Given the description of an element on the screen output the (x, y) to click on. 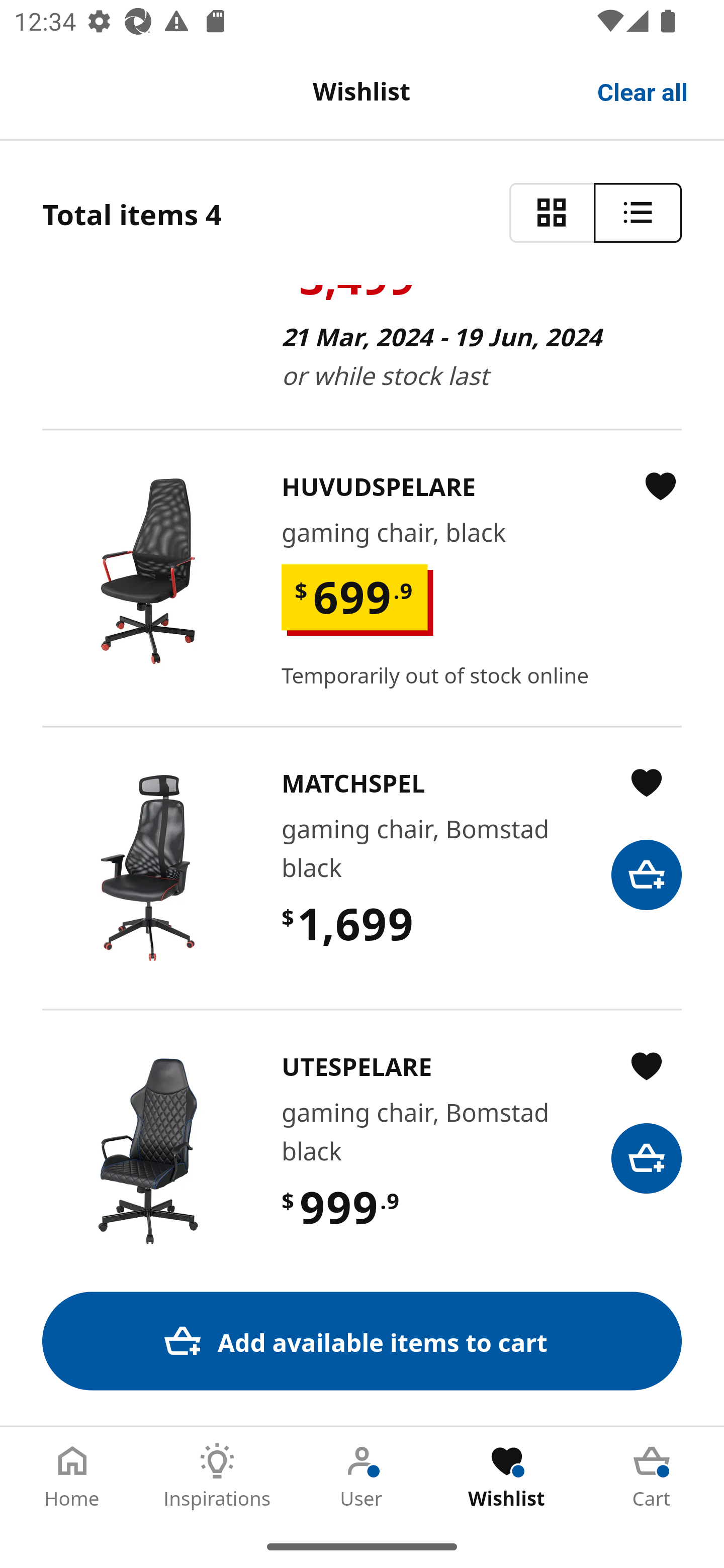
Clear all (643, 90)
Add available items to cart (361, 1341)
Home
Tab 1 of 5 (72, 1476)
Inspirations
Tab 2 of 5 (216, 1476)
User
Tab 3 of 5 (361, 1476)
Wishlist
Tab 4 of 5 (506, 1476)
Cart
Tab 5 of 5 (651, 1476)
